Given the description of an element on the screen output the (x, y) to click on. 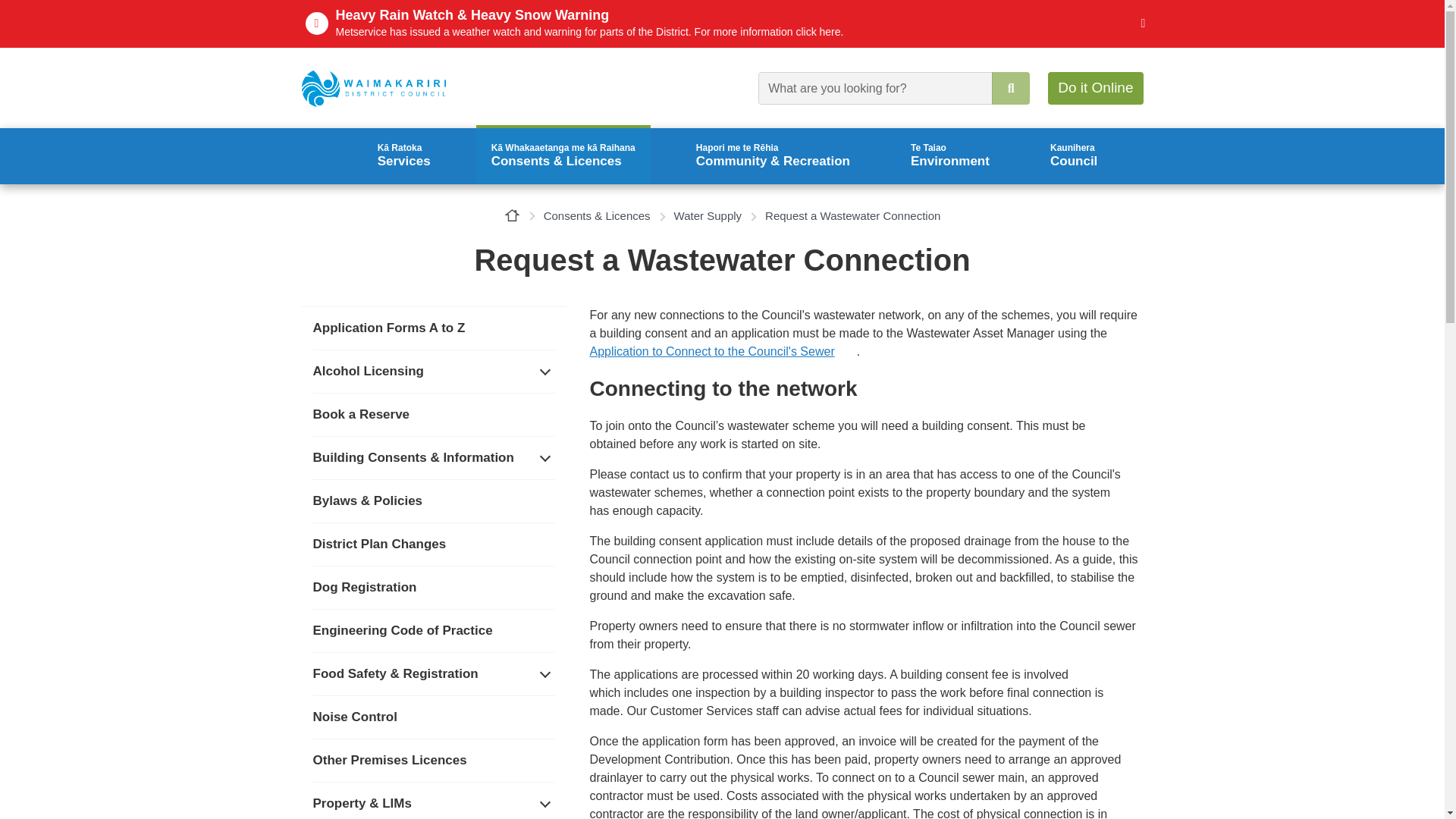
Site Logo (373, 88)
Click here for more info (1142, 23)
Do it Online (1095, 88)
